Given the description of an element on the screen output the (x, y) to click on. 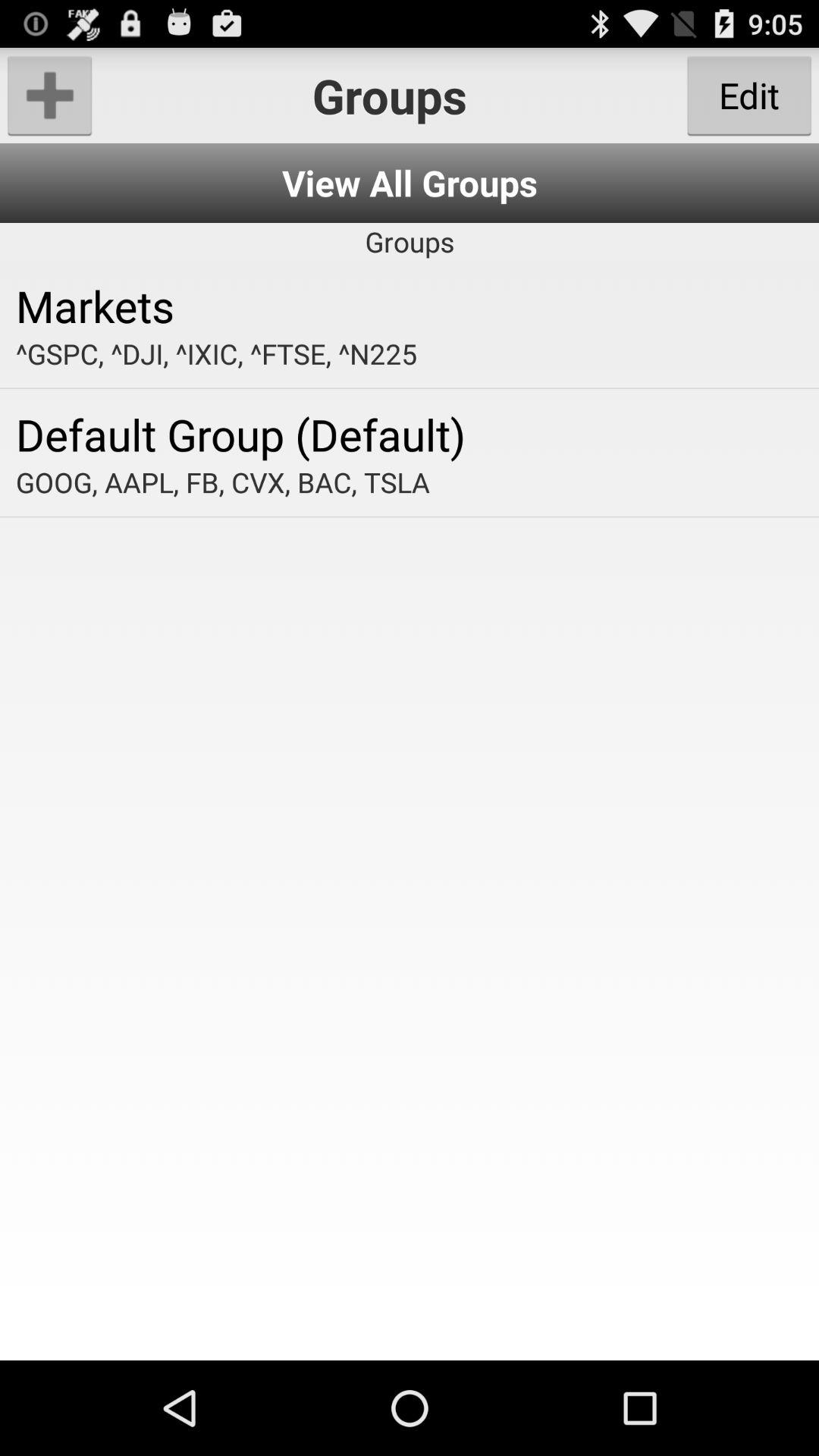
select icon below default group (default) icon (409, 482)
